Given the description of an element on the screen output the (x, y) to click on. 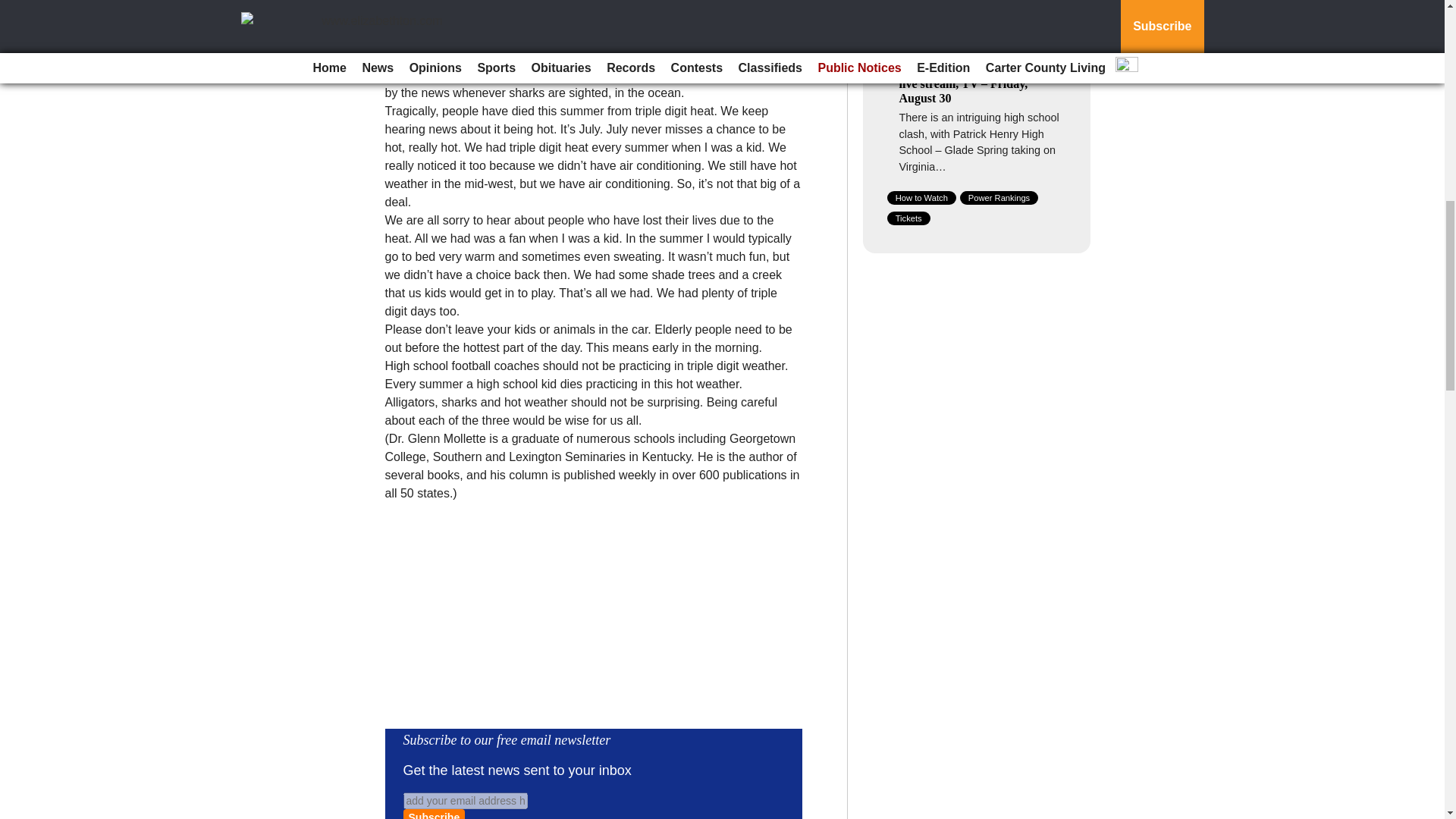
Subscribe (434, 814)
Power Rankings (999, 197)
Tickets (908, 218)
How to Watch (921, 197)
Subscribe (434, 814)
